Given the description of an element on the screen output the (x, y) to click on. 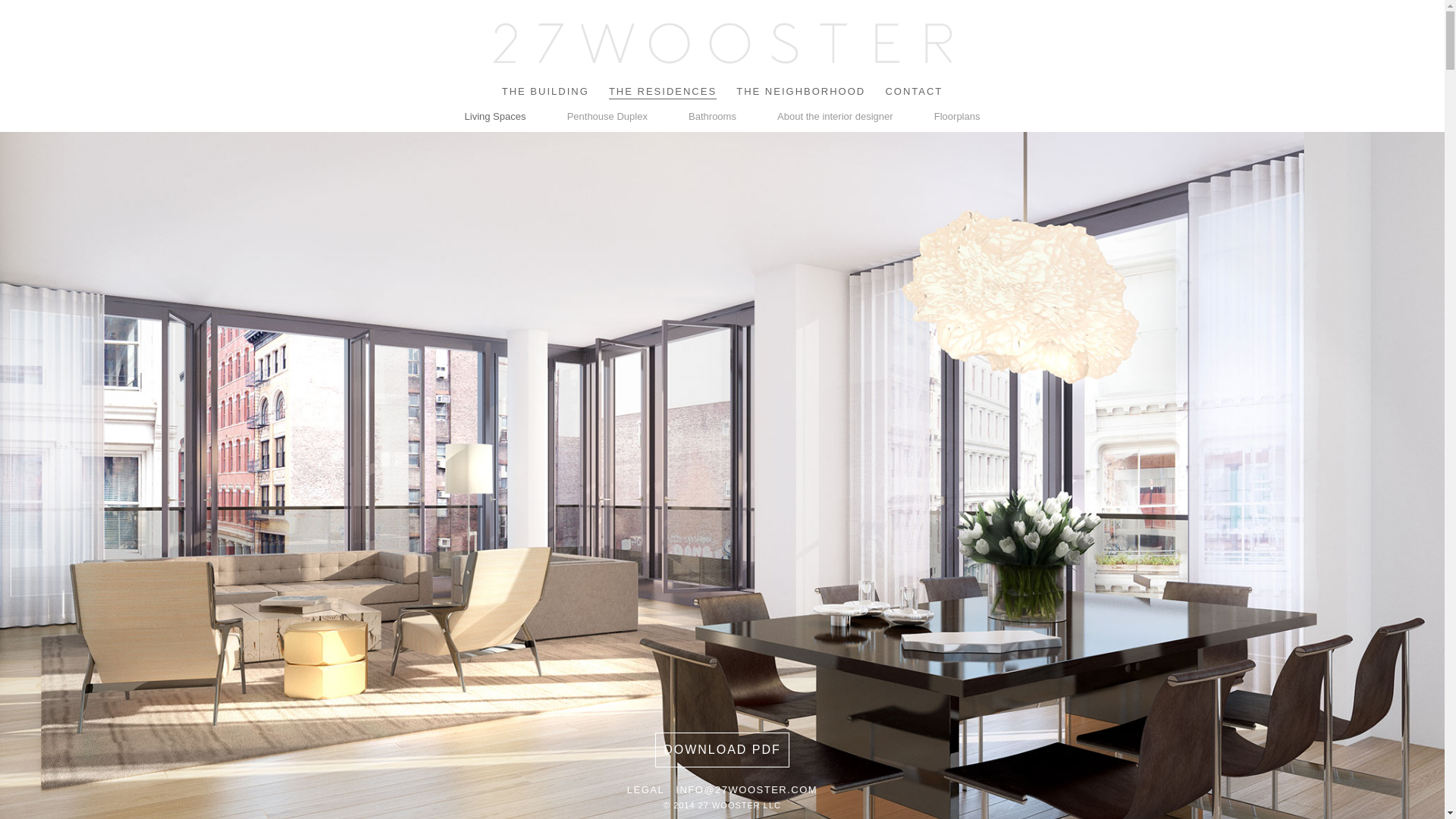
Penthouse Duplex Element type: text (606, 115)
DOWNLOAD PDF Element type: text (722, 749)
About the interior designer Element type: text (834, 115)
Living Spaces Element type: text (495, 115)
THE RESIDENCES Element type: text (662, 91)
INFO@27WOOSTER.COM Element type: text (746, 789)
THE NEIGHBORHOOD Element type: text (800, 91)
LEGAL Element type: text (645, 789)
Bathrooms Element type: text (712, 115)
CONTACT Element type: text (913, 91)
Floorplans Element type: text (956, 115)
THE BUILDING Element type: text (545, 91)
